Given the description of an element on the screen output the (x, y) to click on. 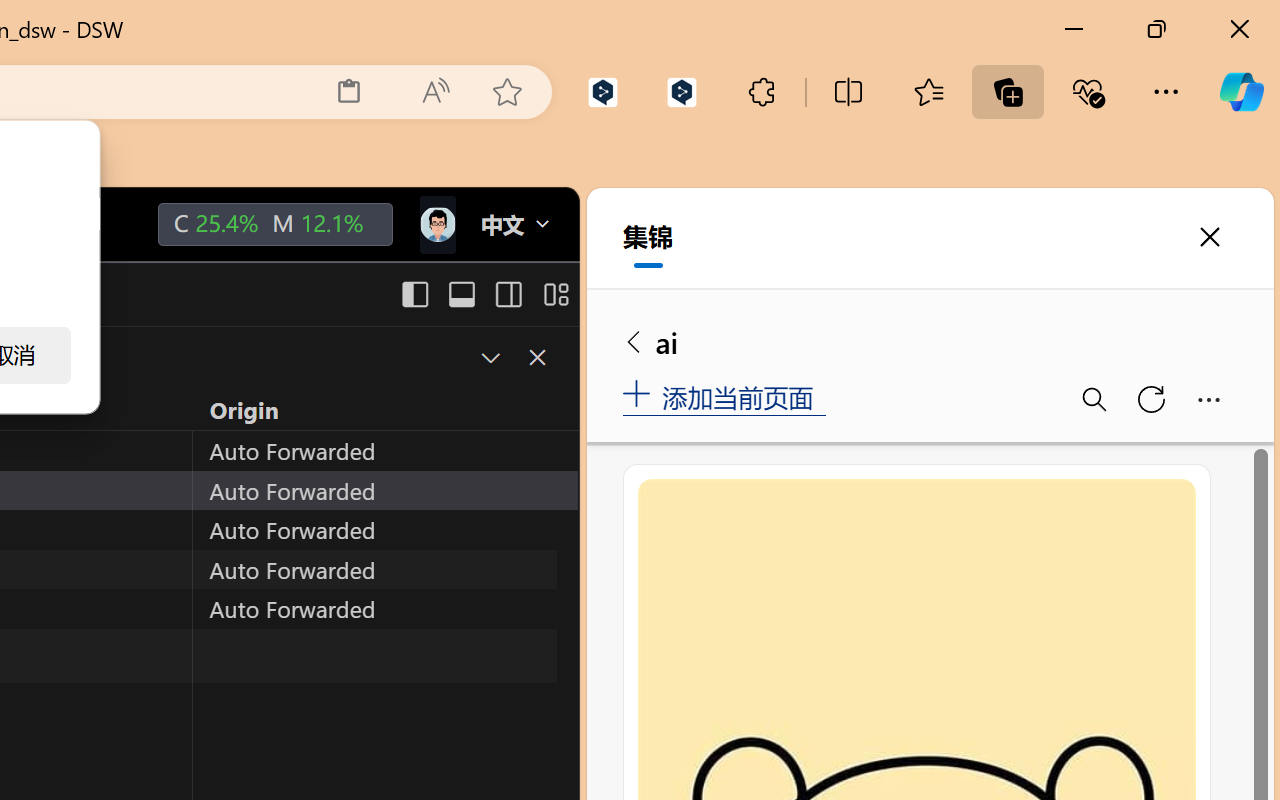
Customize Layout... (553, 294)
Copilot (Ctrl+Shift+.) (1241, 91)
Toggle Panel (Ctrl+J) (461, 294)
icon (436, 220)
